Given the description of an element on the screen output the (x, y) to click on. 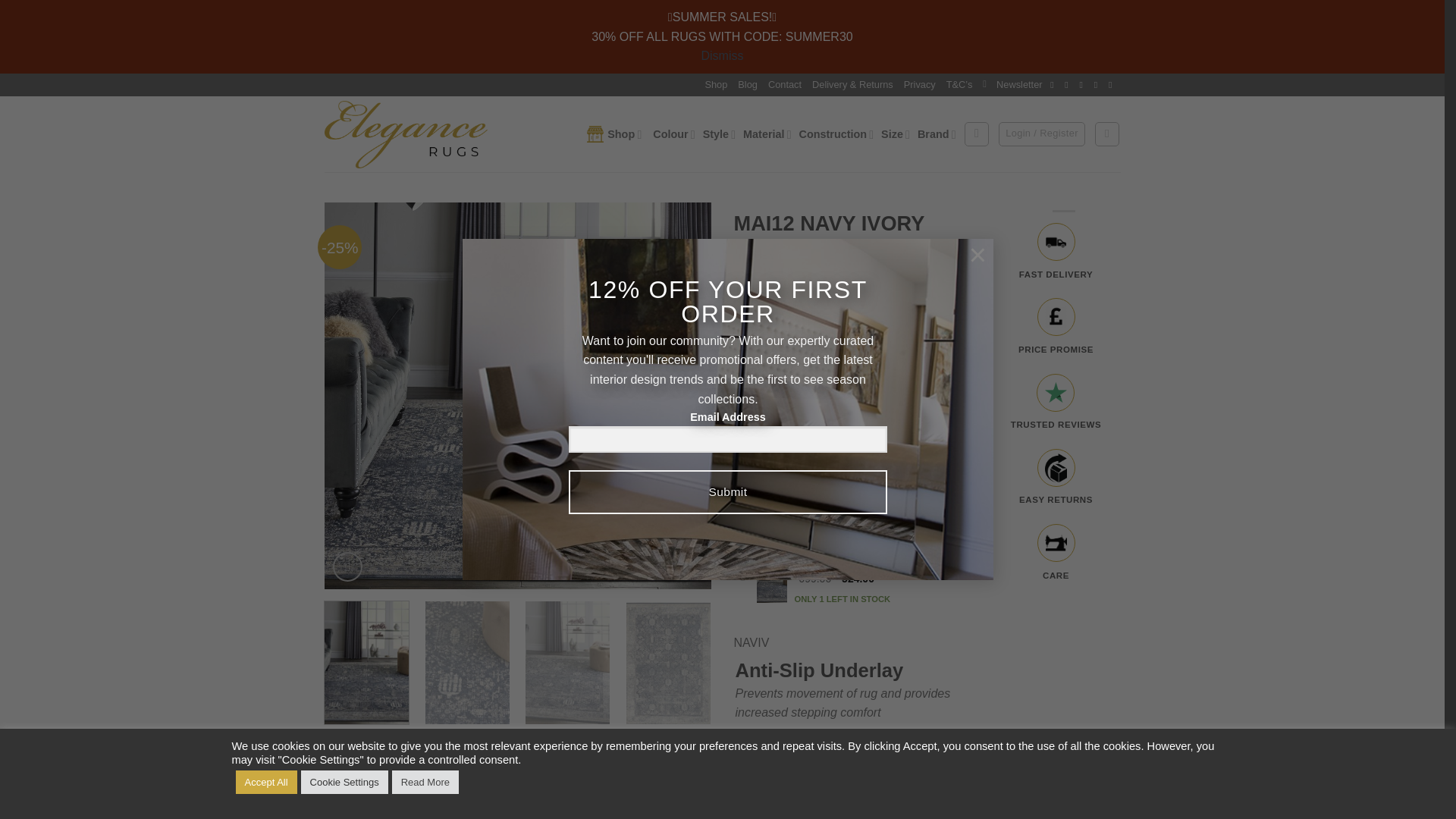
Newsletter (1012, 84)
1 (765, 792)
Contact (785, 84)
Shop (615, 133)
on (741, 331)
on (741, 457)
Basket (1106, 134)
EleganceRugs.co.uk - Discover Elegance (405, 133)
Zoom (347, 566)
on (741, 511)
Shop (715, 84)
Colour (673, 134)
Privacy (920, 84)
Login (1041, 134)
